Given the description of an element on the screen output the (x, y) to click on. 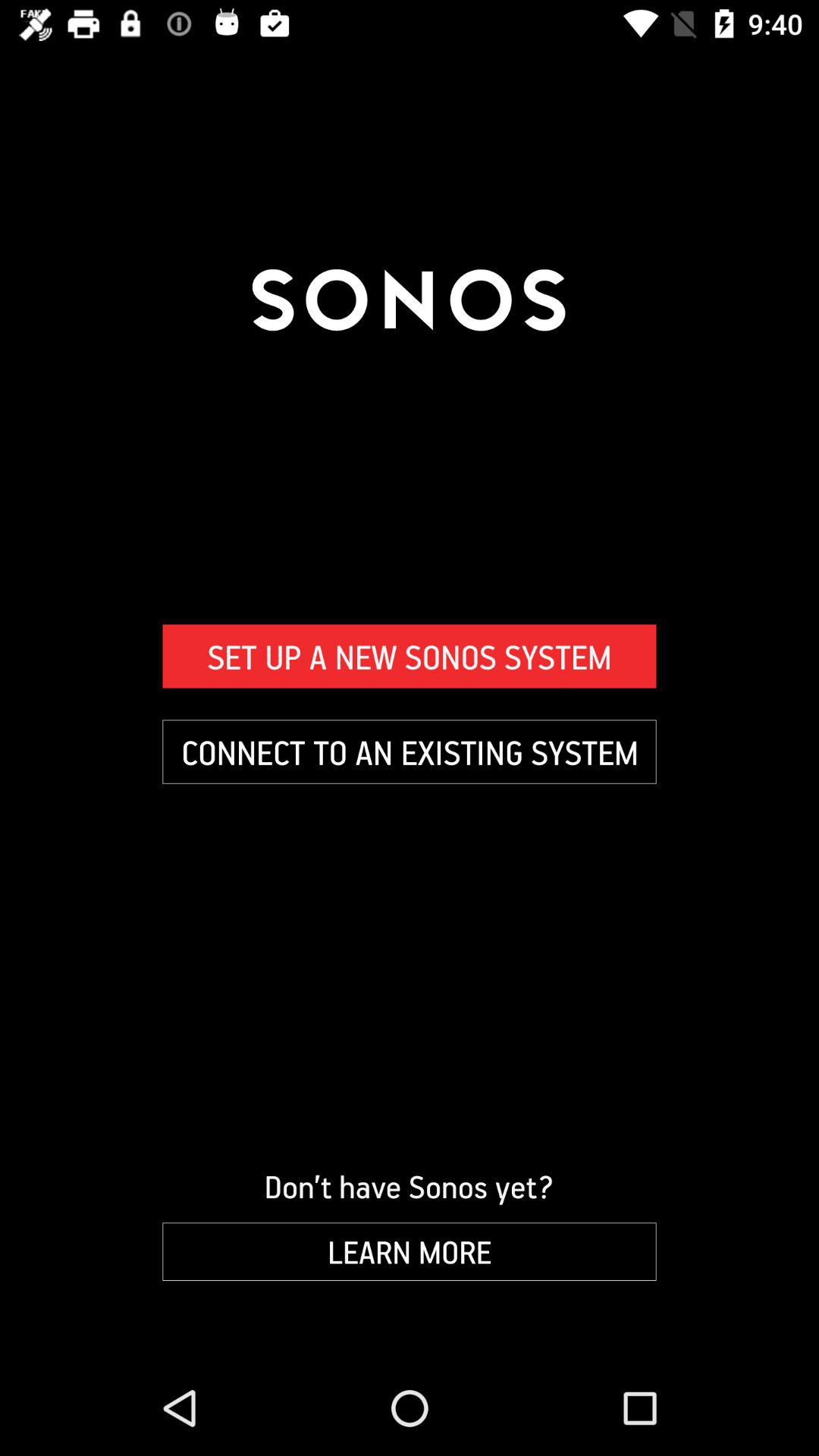
click set up a (409, 656)
